Given the description of an element on the screen output the (x, y) to click on. 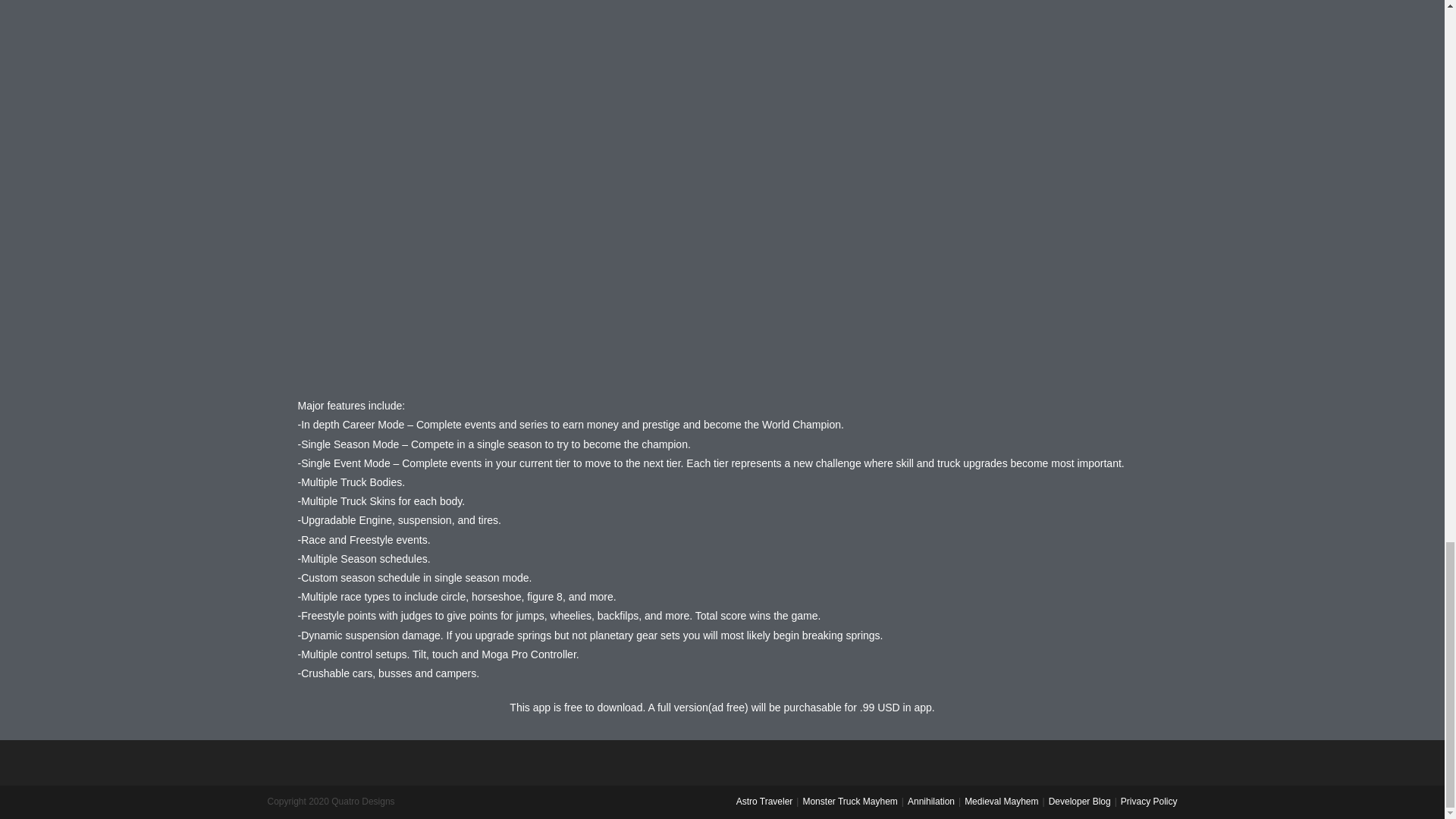
Developer Blog (1079, 801)
Privacy Policy (1149, 801)
Annihilation (931, 801)
Monster Truck Mayhem (849, 801)
Medieval Mayhem (1000, 801)
Astro Traveler (764, 801)
